Given the description of an element on the screen output the (x, y) to click on. 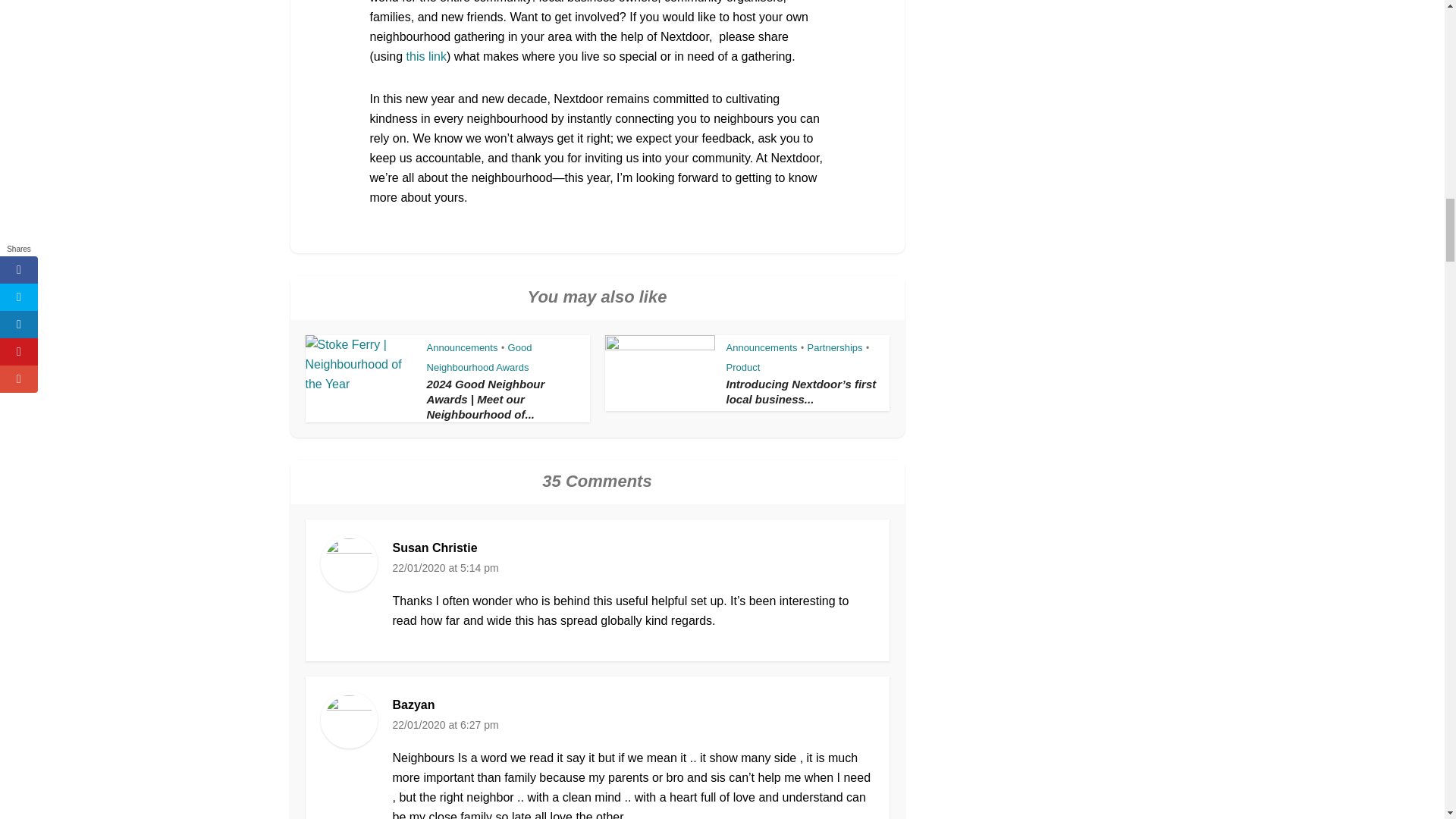
Partnerships (835, 347)
this link (426, 56)
Announcements (761, 347)
Product (743, 367)
Announcements (461, 347)
Good Neighbourhood Awards (478, 357)
